Given the description of an element on the screen output the (x, y) to click on. 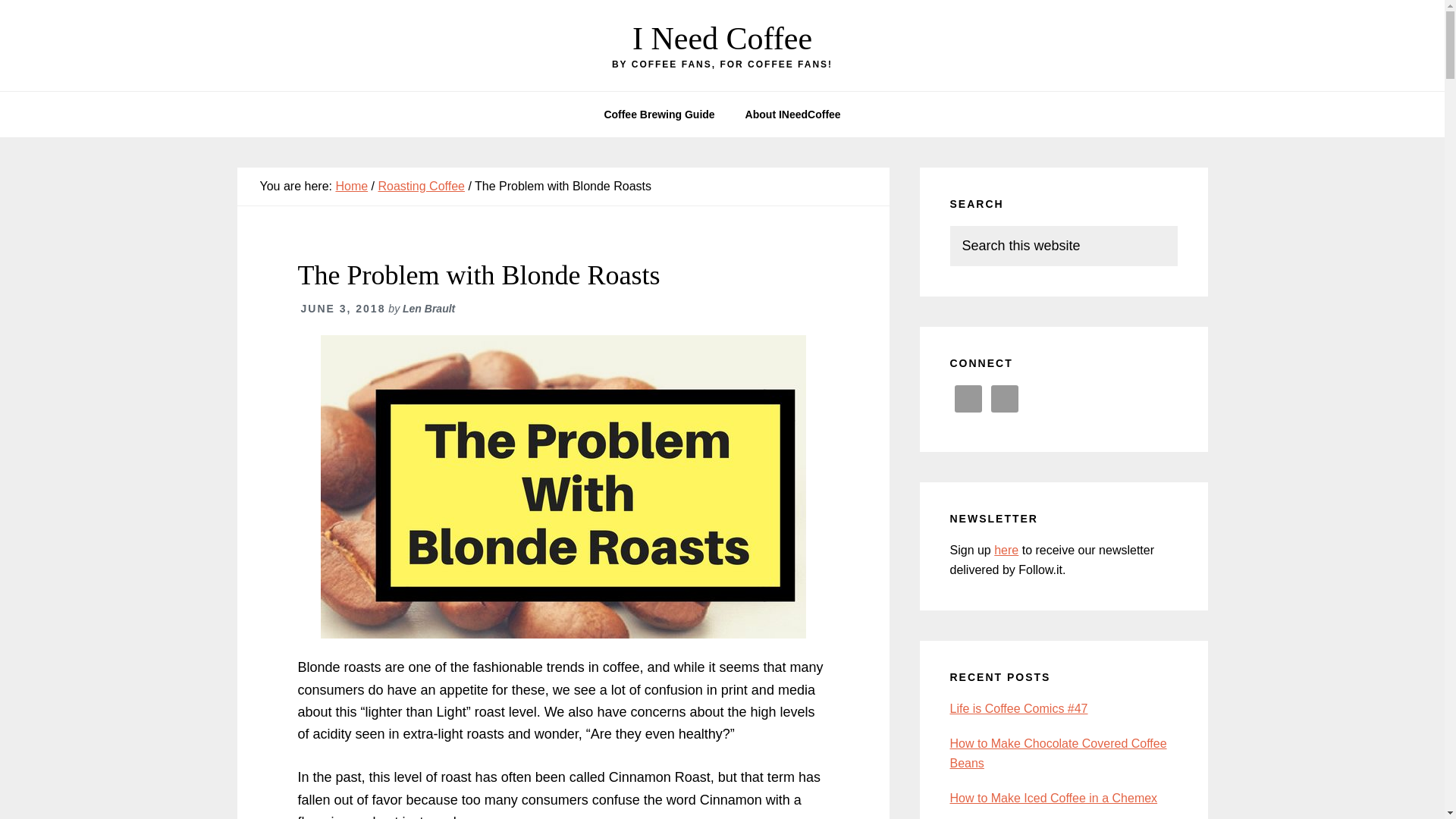
I Need Coffee (721, 38)
here (1005, 549)
Home (351, 185)
Roasting Coffee (420, 185)
Coffee Brewing Guide (658, 114)
About INeedCoffee (793, 114)
